Given the description of an element on the screen output the (x, y) to click on. 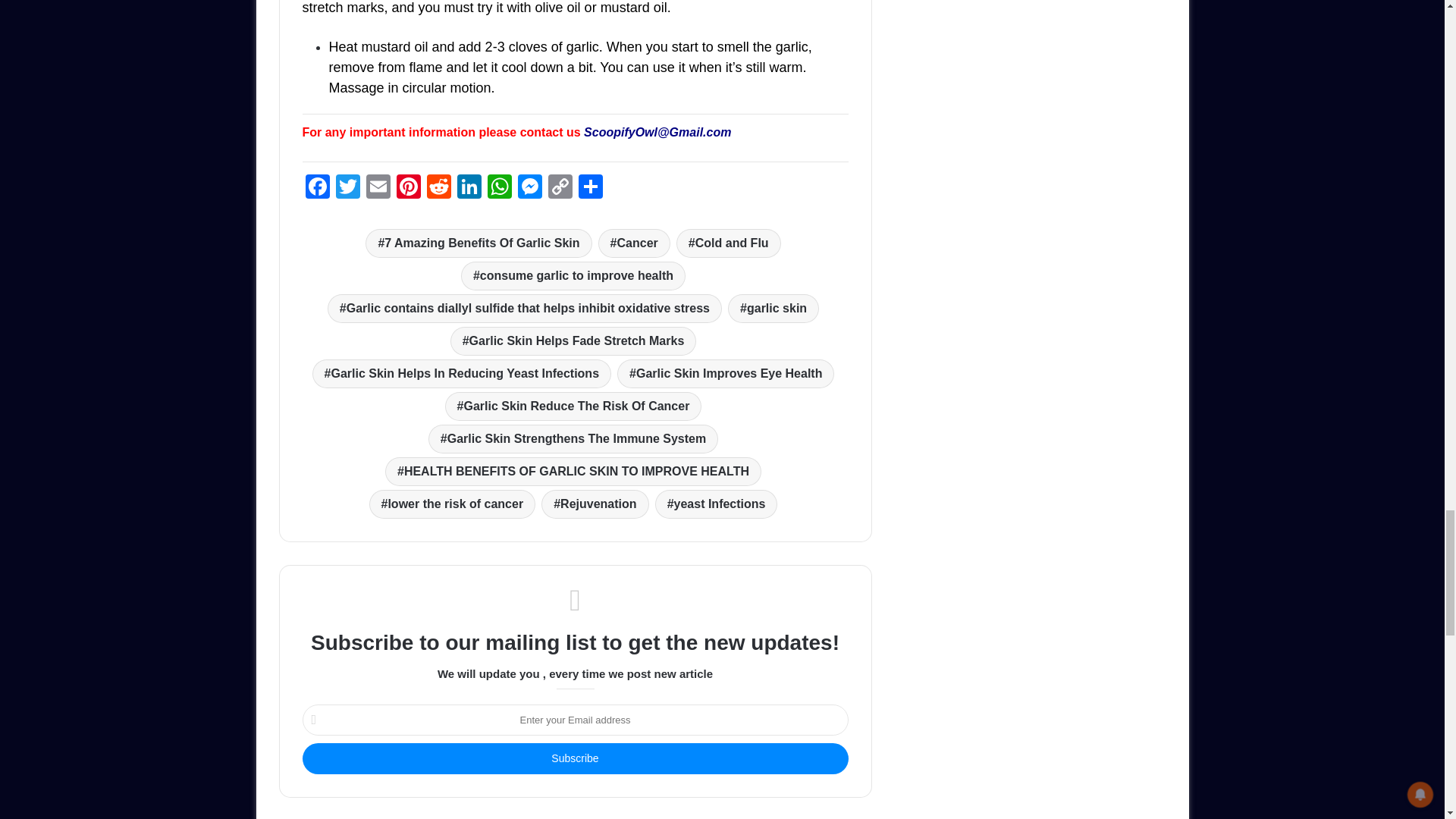
LinkedIn (467, 188)
Twitter (346, 188)
Share (590, 188)
Subscribe (574, 757)
Garlic Skin Improves Eye Health (725, 373)
Reddit (437, 188)
Twitter (346, 188)
Garlic Skin Reduce The Risk Of Cancer (573, 406)
Garlic Skin Helps Fade Stretch Marks (573, 340)
Email (377, 188)
Email (377, 188)
Facebook (316, 188)
garlic skin (773, 308)
LinkedIn (467, 188)
